Given the description of an element on the screen output the (x, y) to click on. 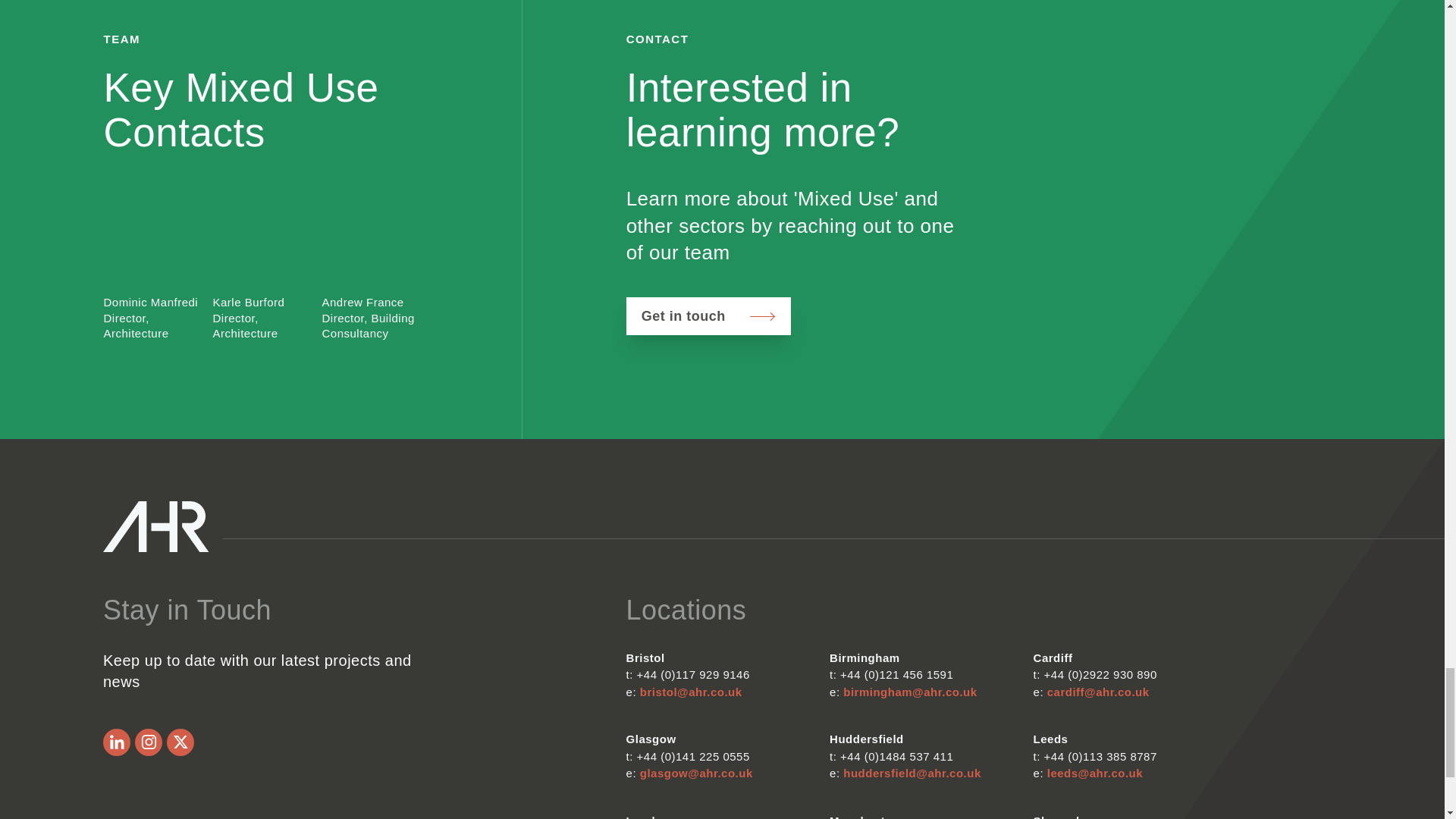
Follow AHR on LinkedIn (117, 741)
Homepage (156, 526)
Follow AHR on Instagram (148, 741)
